Given the description of an element on the screen output the (x, y) to click on. 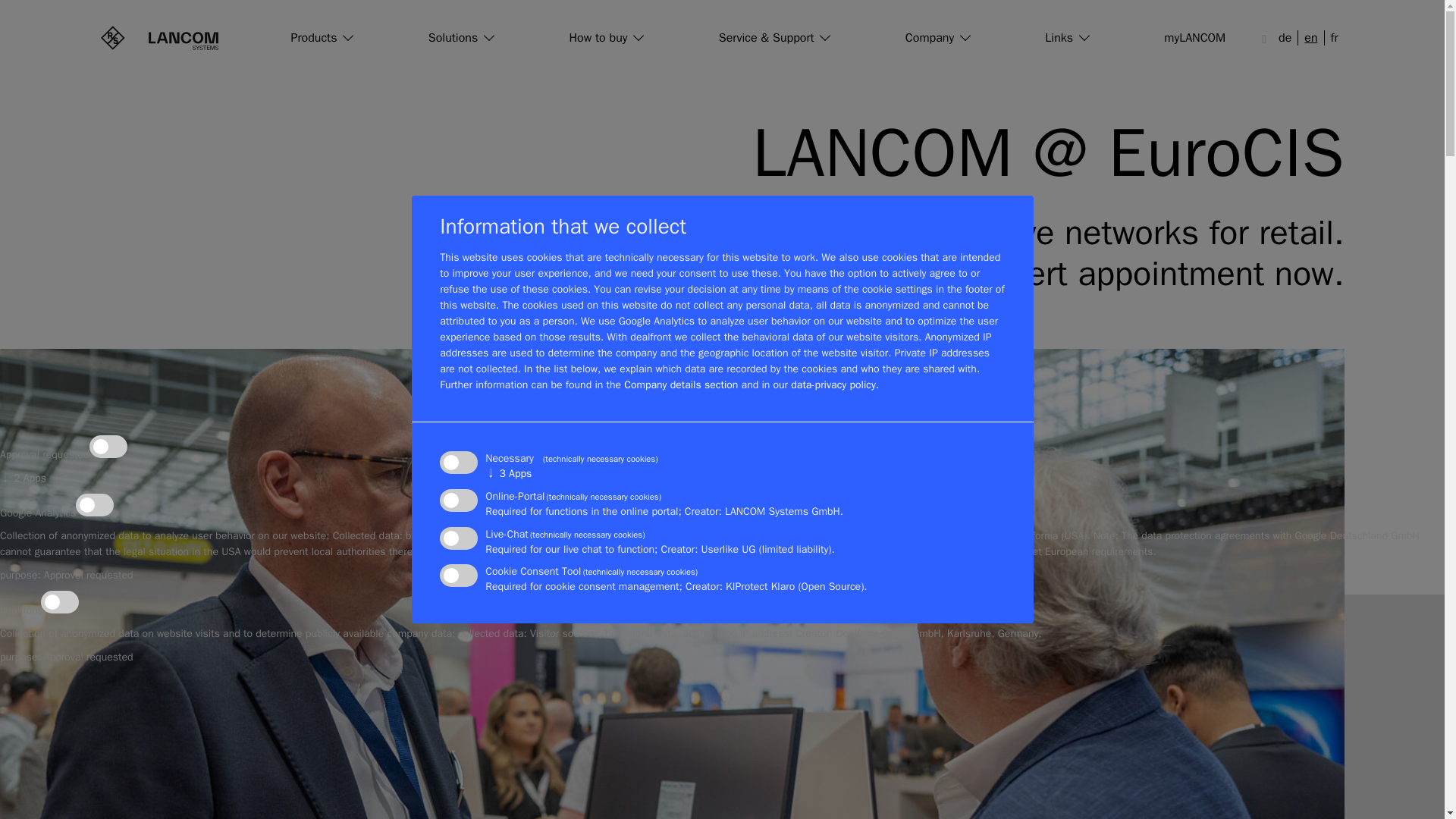
Logo (158, 37)
Products (321, 37)
Products (321, 37)
